Given the description of an element on the screen output the (x, y) to click on. 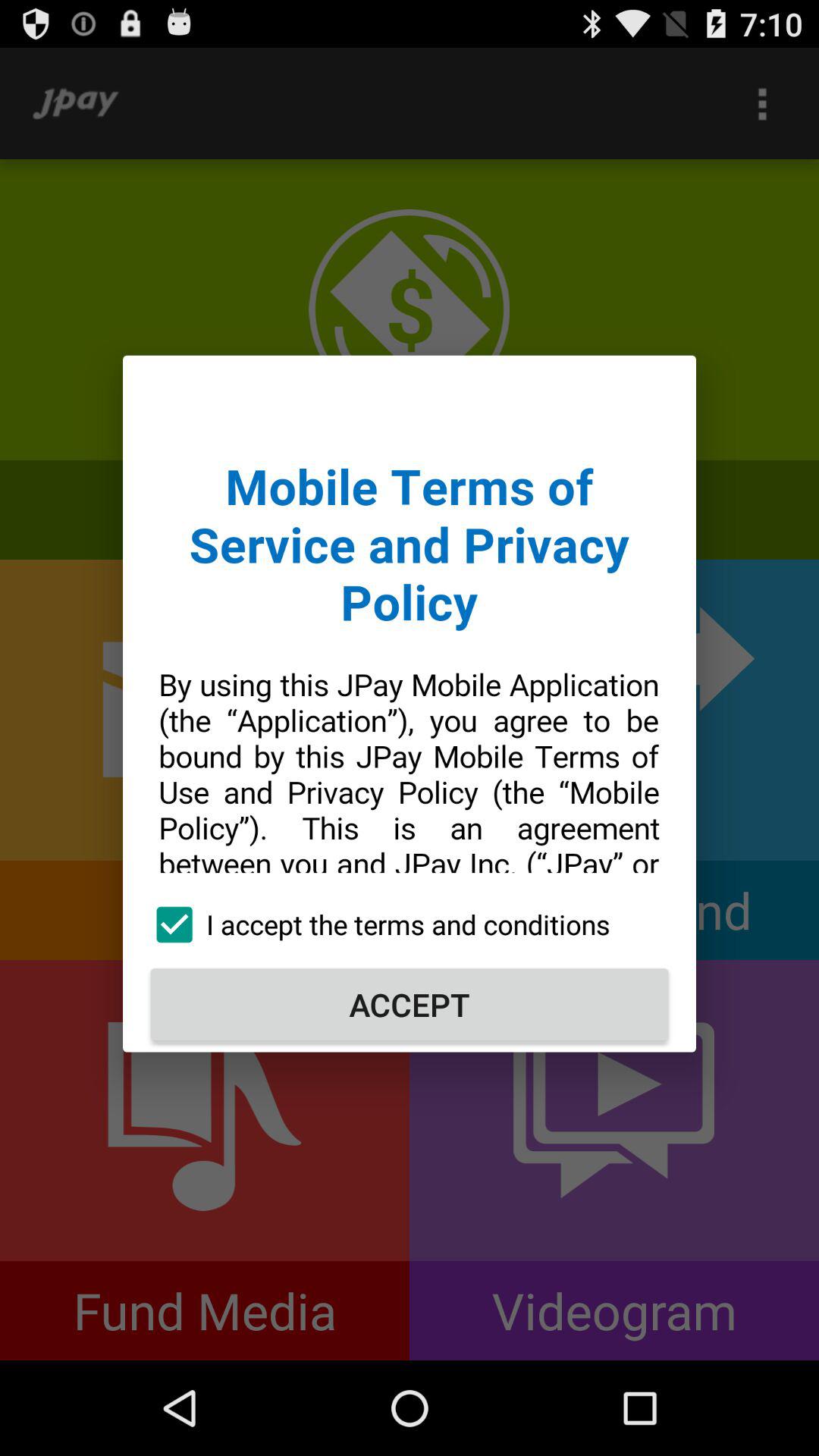
terms of service (409, 629)
